Given the description of an element on the screen output the (x, y) to click on. 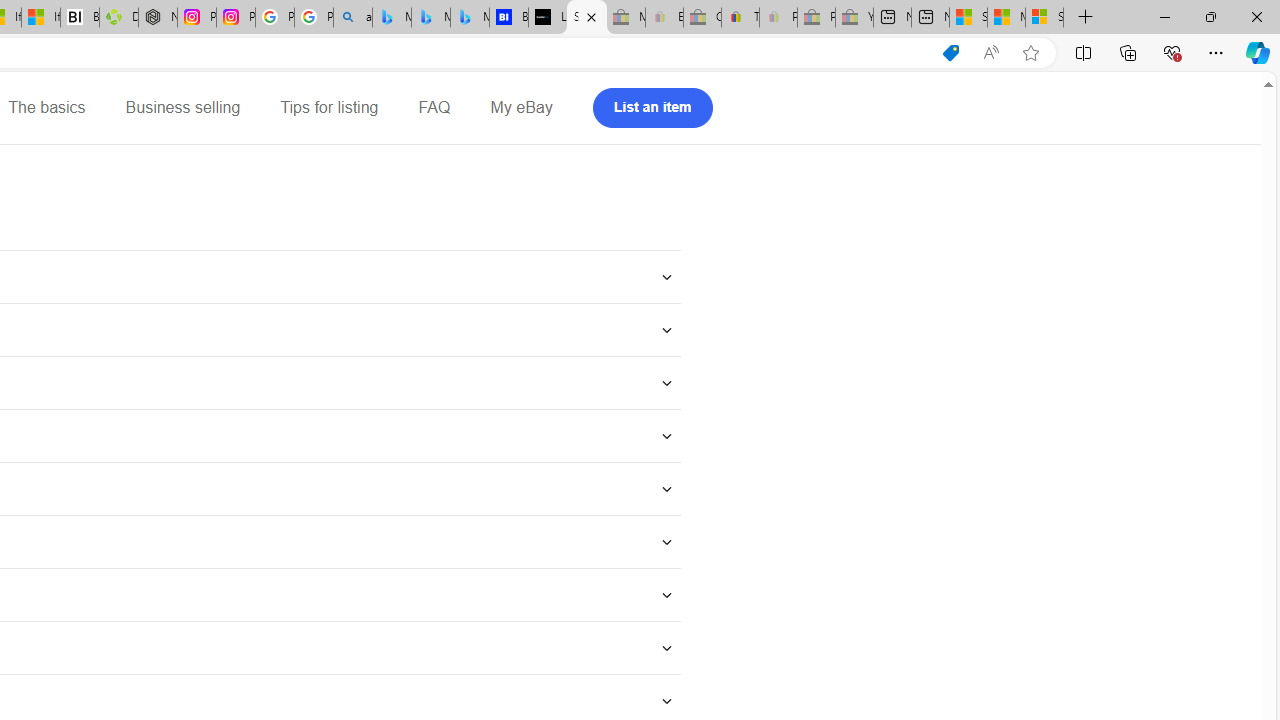
Tips for listing (329, 107)
